Given the description of an element on the screen output the (x, y) to click on. 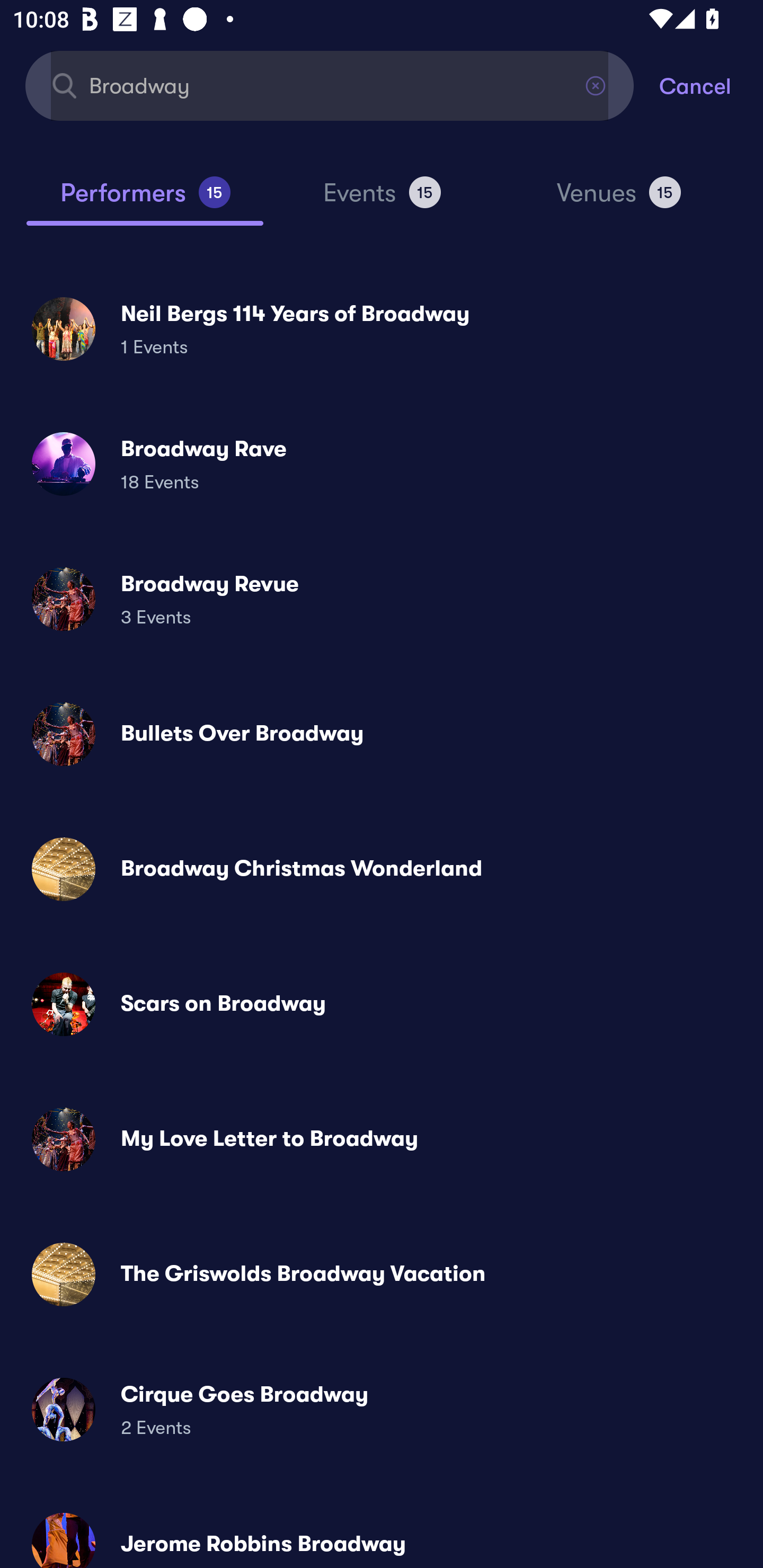
Broadway Find (329, 85)
Broadway Find (329, 85)
Cancel (711, 85)
Performers 15 (144, 200)
Events 15 (381, 200)
Venues 15 (618, 200)
Neil Bergs 114 Years of Broadway 1 Events (381, 328)
Broadway Rave 18 Events (381, 464)
Broadway Revue 3 Events (381, 598)
Bullets Over Broadway (381, 734)
Broadway Christmas Wonderland (381, 869)
Scars on Broadway (381, 1004)
My Love Letter to Broadway (381, 1138)
The Griswolds Broadway Vacation (381, 1273)
Cirque Goes Broadway 2 Events (381, 1409)
Jerome Robbins Broadway (381, 1532)
